Given the description of an element on the screen output the (x, y) to click on. 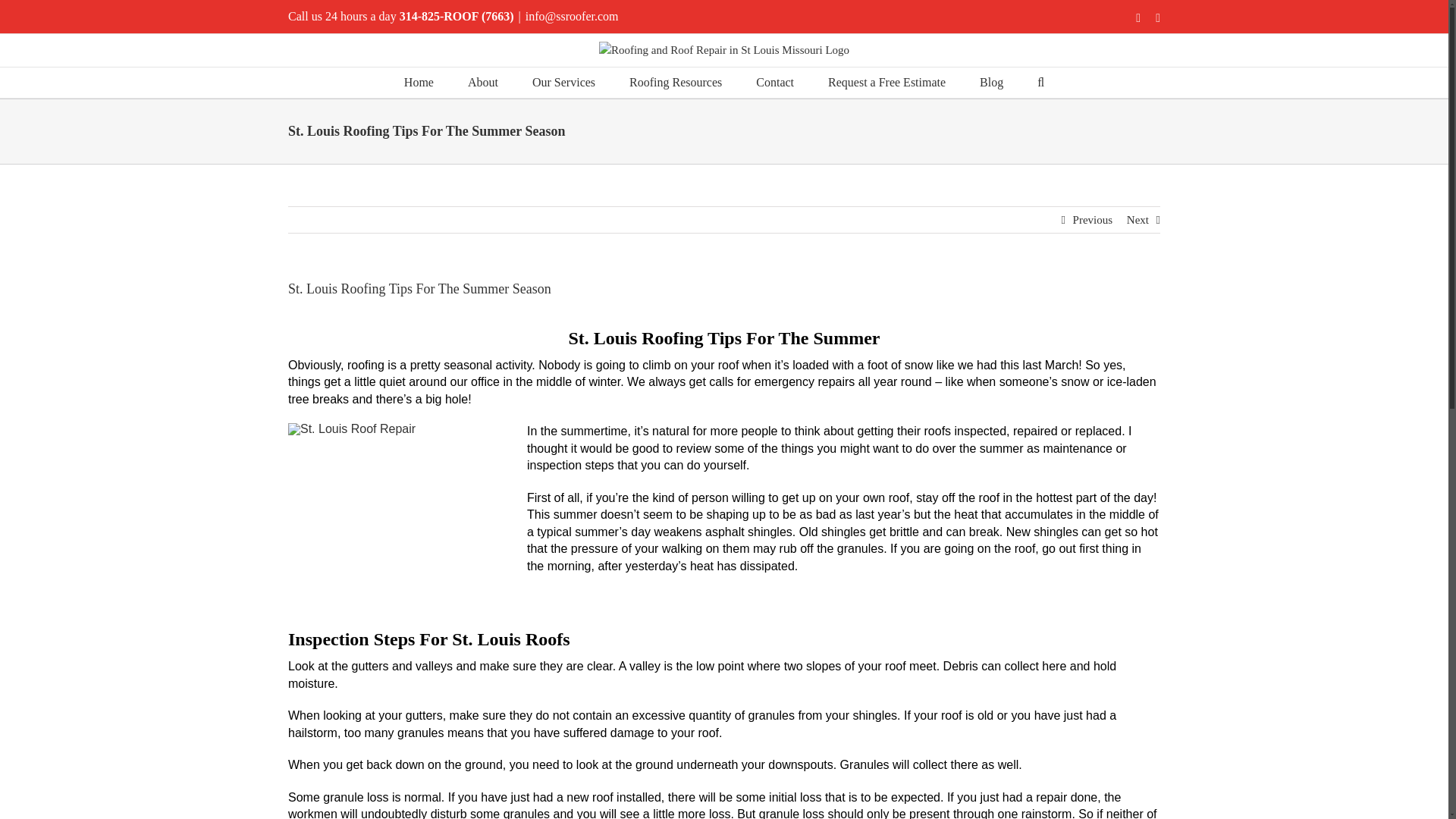
Request a Free Estimate (886, 81)
Roofing Resources (675, 81)
About (482, 81)
Contact (774, 81)
Request a Free Estimate (886, 81)
Home (418, 81)
Our Services (563, 81)
Previous (1093, 218)
